Given the description of an element on the screen output the (x, y) to click on. 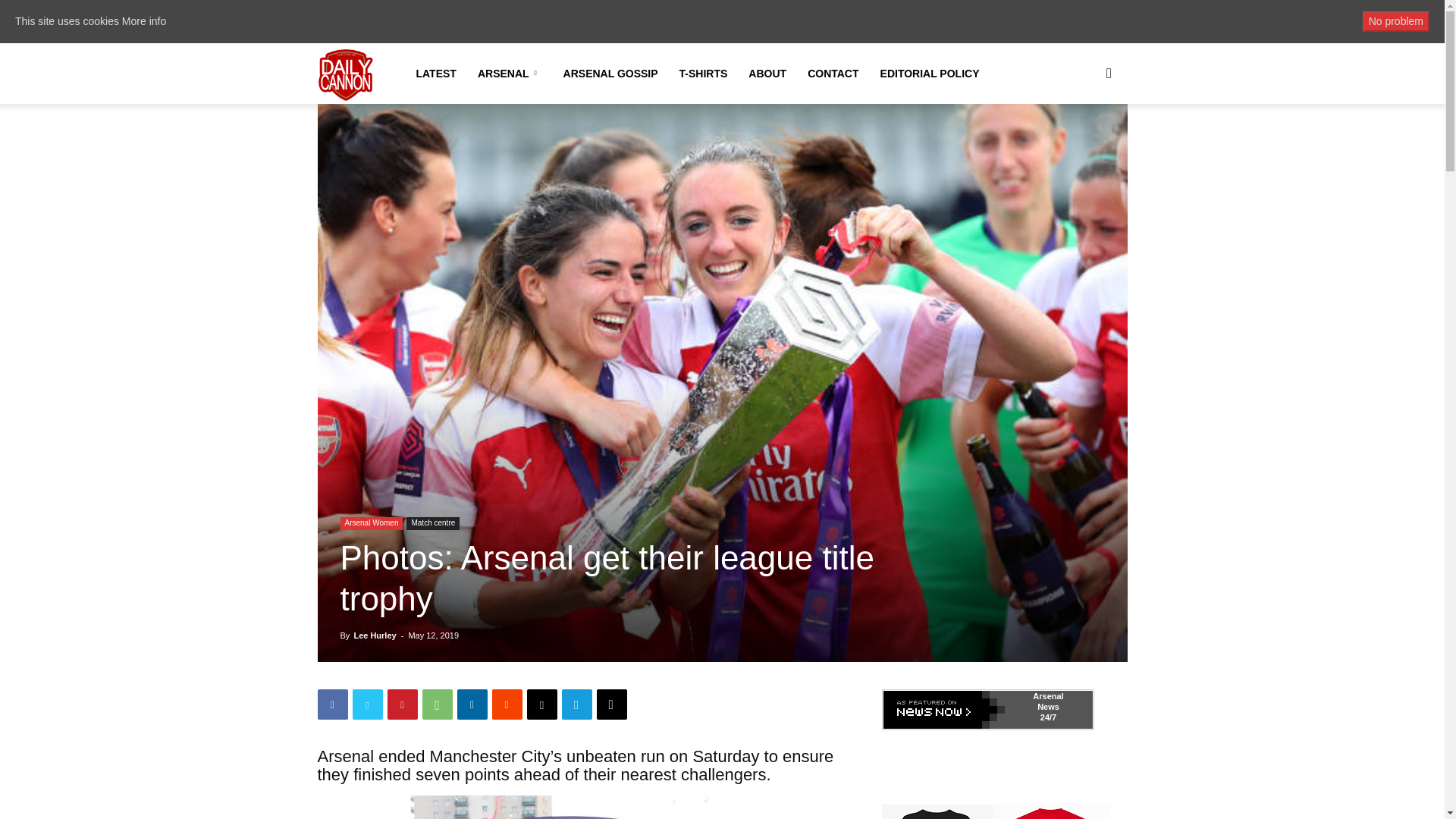
Telegram (575, 704)
Copy URL (610, 704)
Pinterest (401, 704)
Facebook (332, 704)
Twitter (366, 704)
Linkedin (471, 704)
Email (540, 704)
Search (1085, 146)
Photos: Arsenal get their league title trophy 1 (580, 807)
WhatsApp (436, 704)
ReddIt (506, 704)
